Given the description of an element on the screen output the (x, y) to click on. 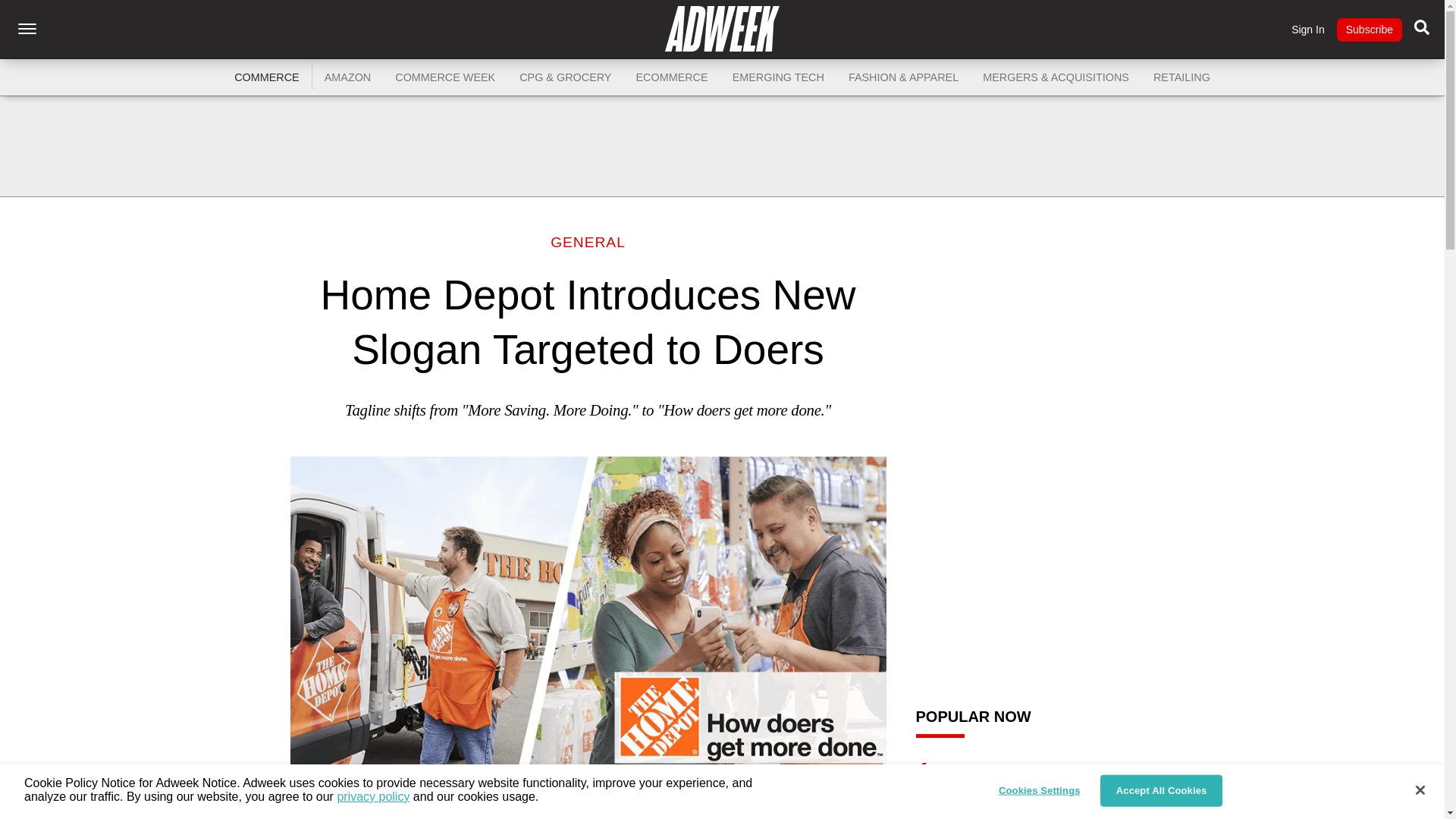
3rd party ad content (722, 146)
COMMERCE WEEK (444, 77)
RETAILING (1182, 77)
GENERAL (588, 242)
COMMERCE (267, 77)
Sign In (1307, 29)
EMERGING TECH (777, 77)
Subscribe (1369, 29)
ECOMMERCE (671, 77)
AMAZON (348, 77)
Toggle Main Menu (26, 28)
